Given the description of an element on the screen output the (x, y) to click on. 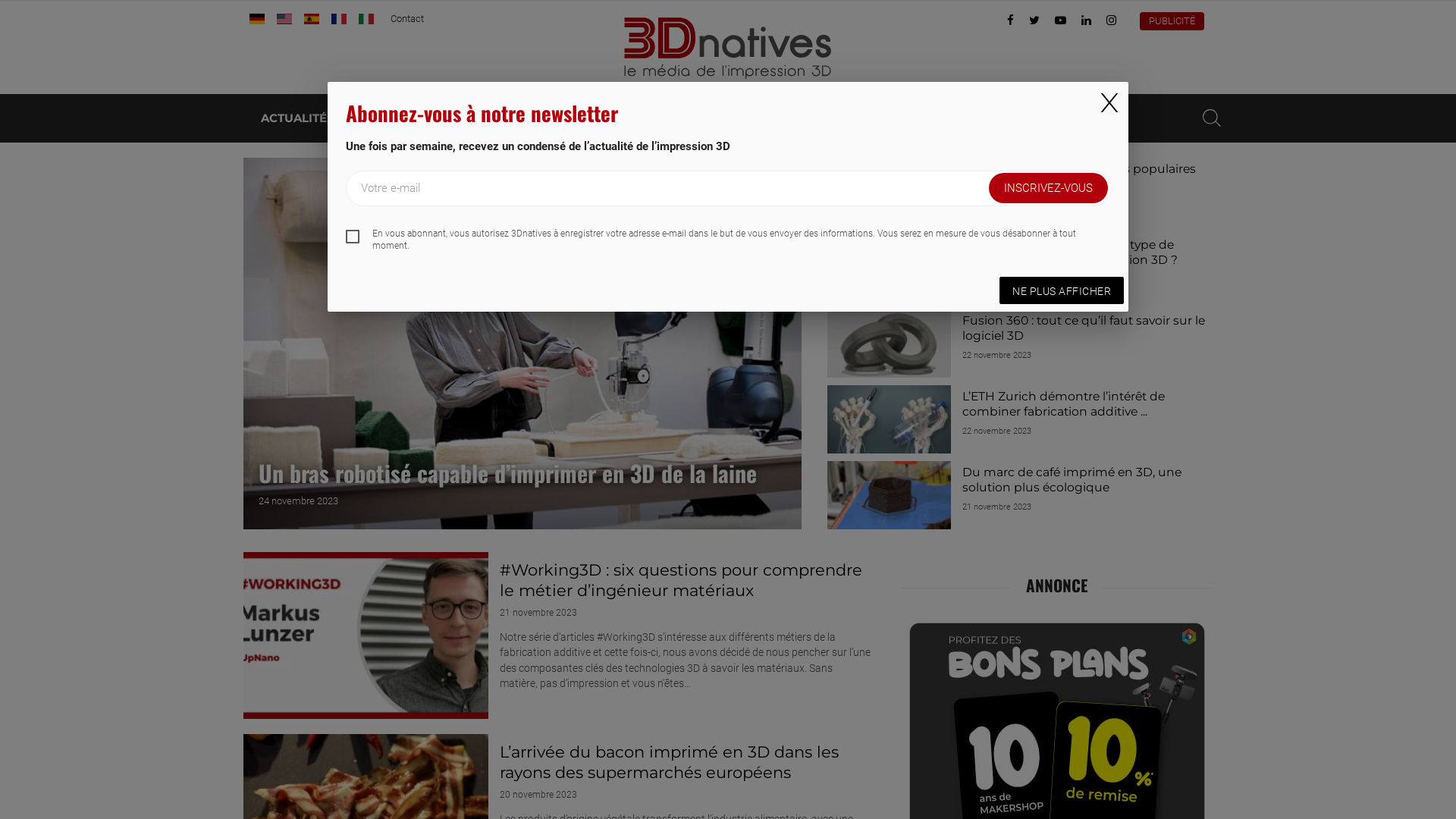
AGENDA Element type: text (691, 118)
deutsch Element type: hover (256, 18)
ANNUAIRE Element type: text (600, 118)
Rechercher Element type: text (1211, 118)
INSCRIVEZ-VOUS Element type: text (1047, 187)
Contact Element type: text (406, 18)
COMPARATEUR Element type: text (952, 118)
Fermer Element type: text (1109, 102)
english Element type: hover (283, 18)
FORMNEXT Element type: text (1076, 118)
italiano Element type: hover (365, 18)
NE PLUS AFFICHER Element type: text (1061, 290)
